Given the description of an element on the screen output the (x, y) to click on. 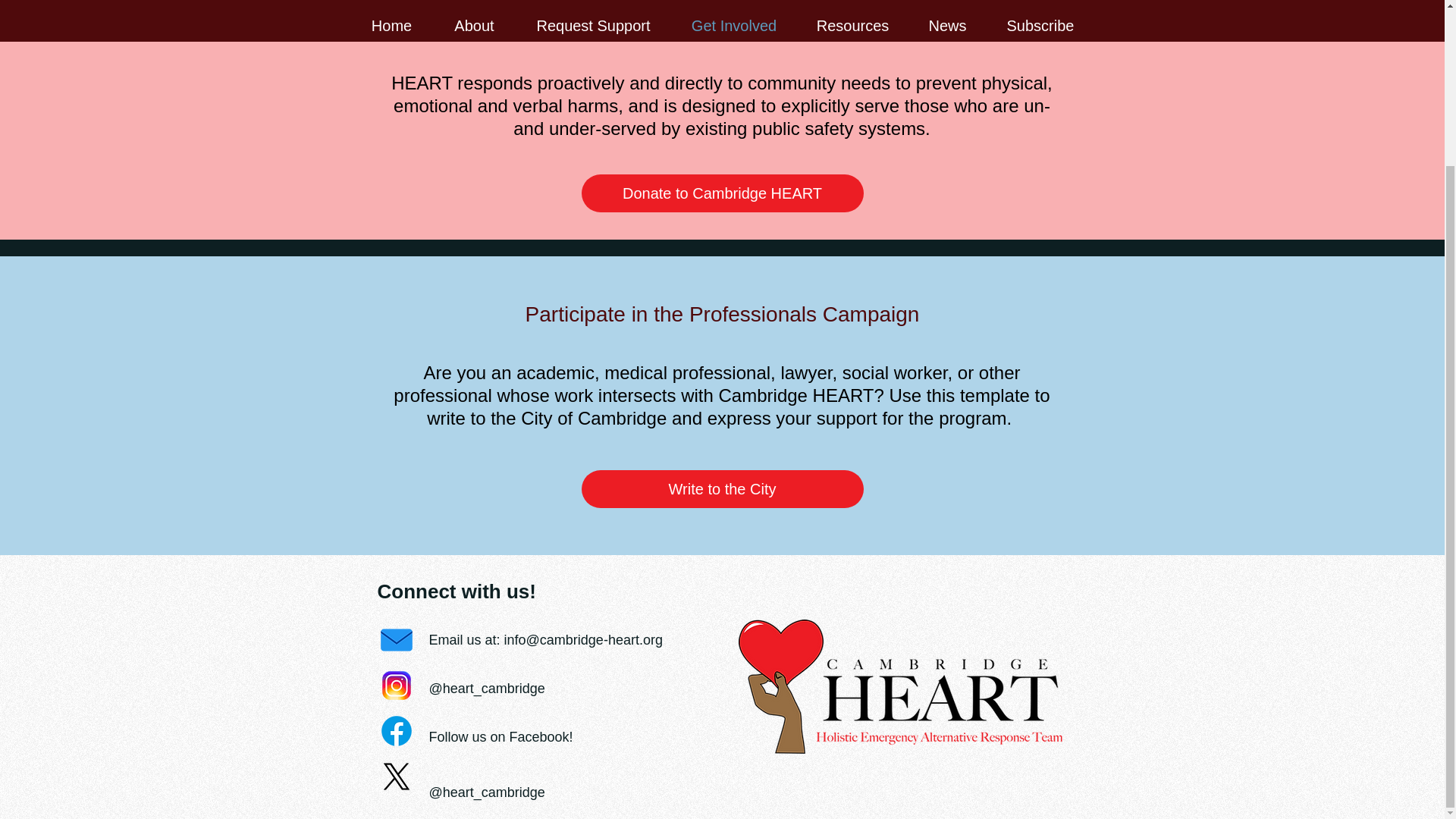
Write to the City (721, 488)
Follow us on Facebook! (501, 736)
Donate to Cambridge HEART (721, 193)
